Given the description of an element on the screen output the (x, y) to click on. 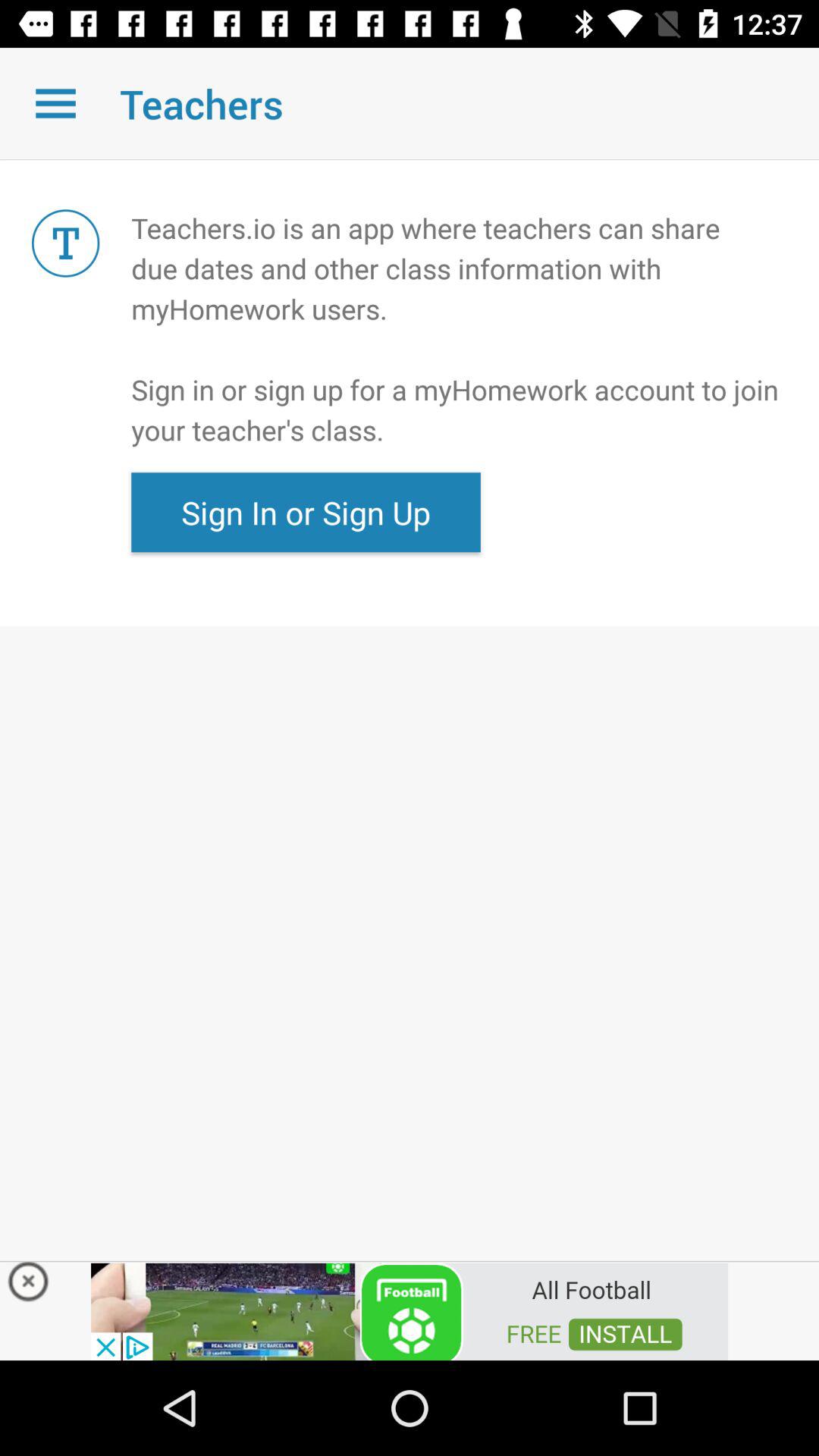
open advertisement (409, 1310)
